Given the description of an element on the screen output the (x, y) to click on. 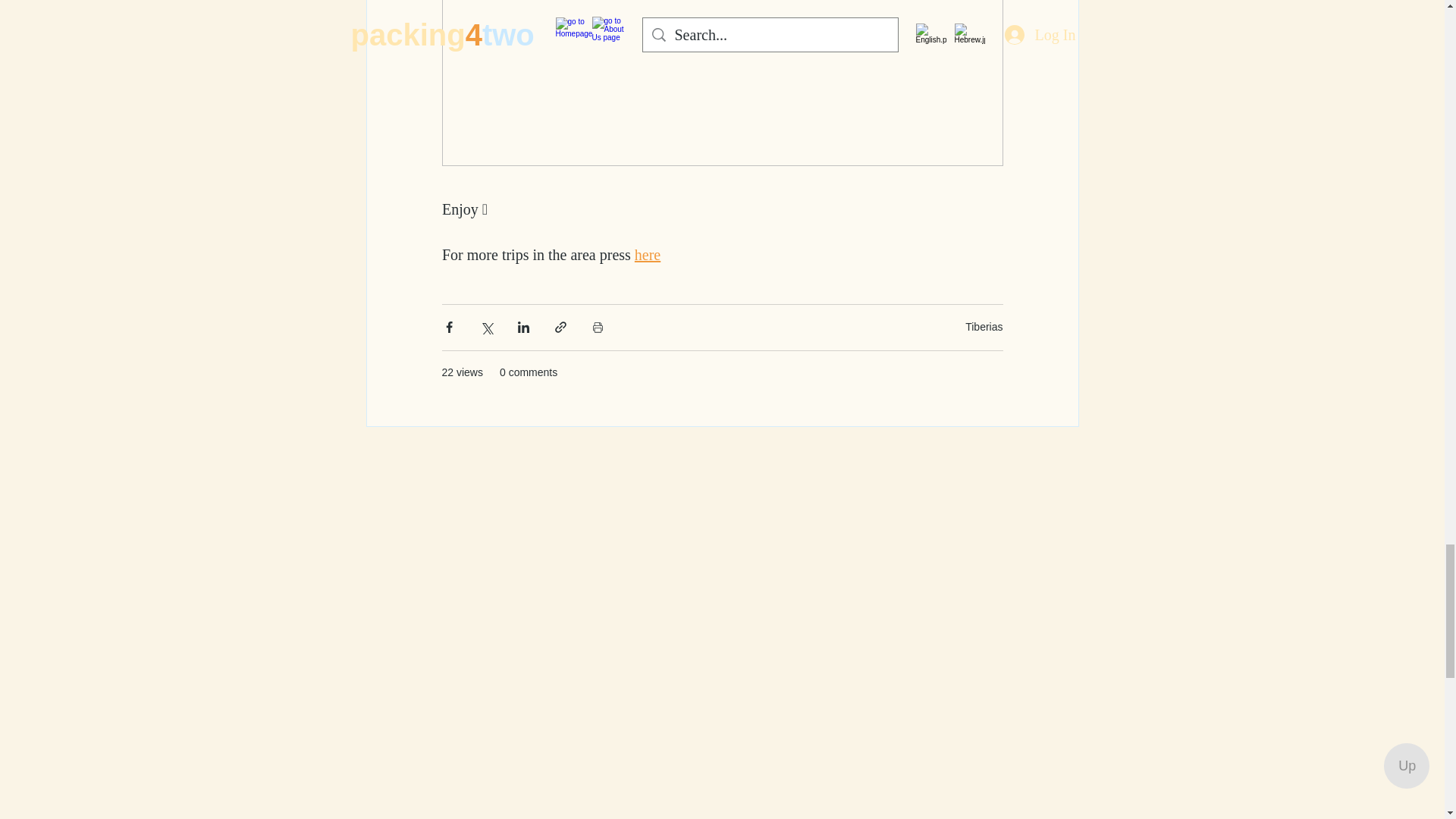
Tiberias (984, 326)
here (646, 254)
